Given the description of an element on the screen output the (x, y) to click on. 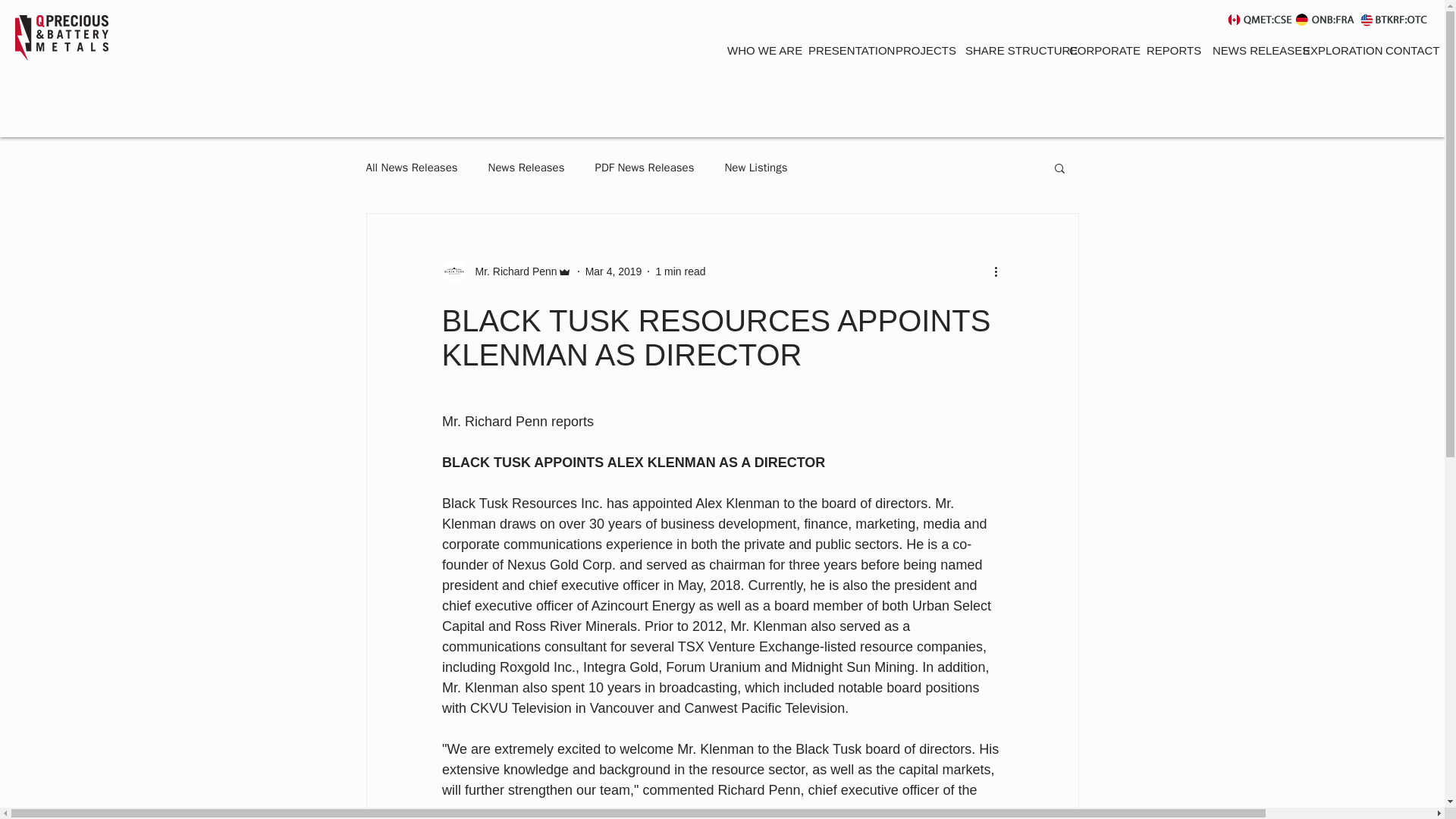
WHO WE ARE (756, 50)
Embedded Content (728, 98)
EXPLORATION (1331, 50)
PRESENTATION (839, 50)
SHARE STRUCTURE (1005, 50)
CORPORATE (1095, 50)
New Listings (755, 167)
News Releases (525, 167)
Mar 4, 2019 (613, 271)
Mr. Richard Penn (510, 271)
